Given the description of an element on the screen output the (x, y) to click on. 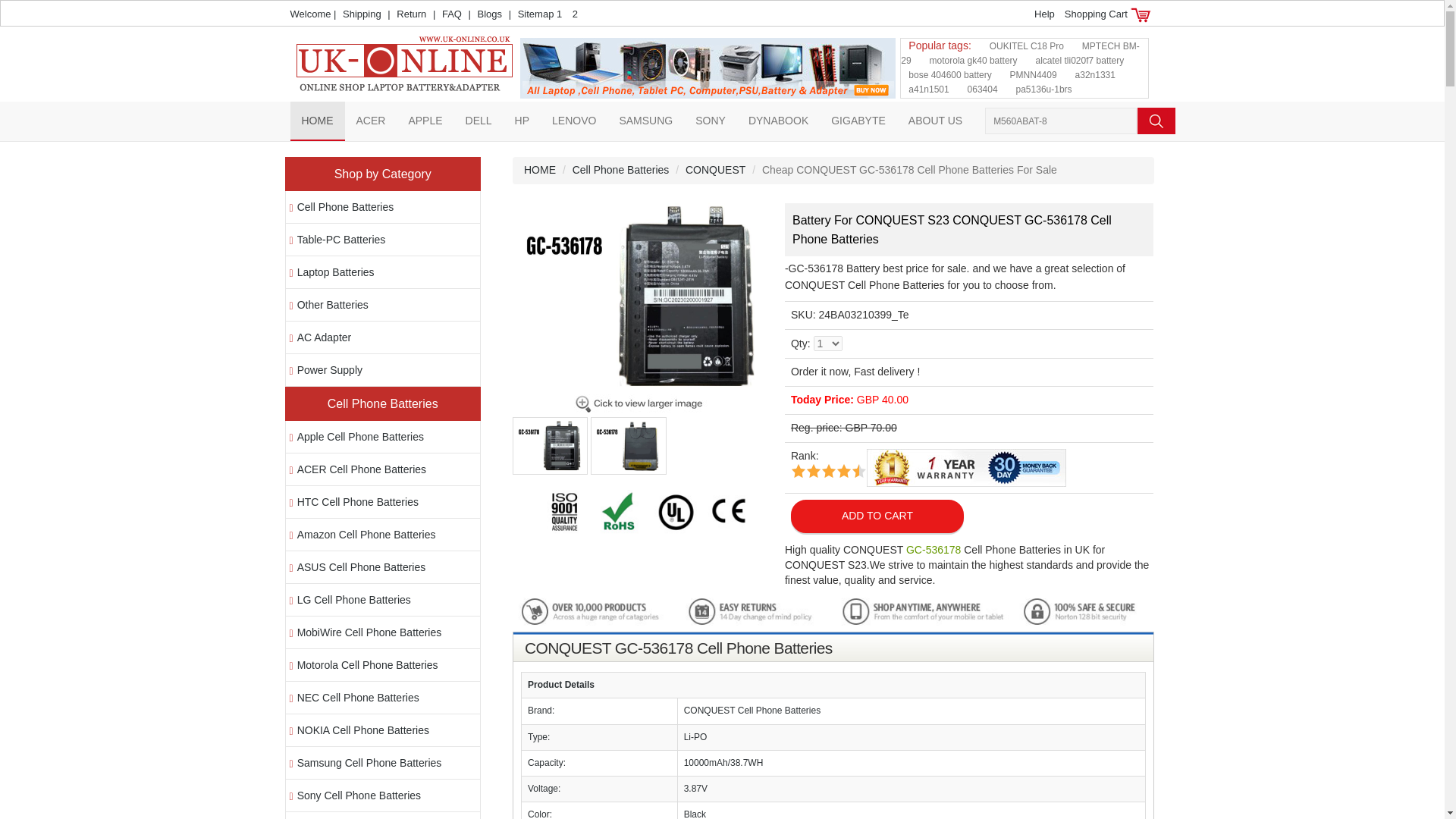
Laptop Batteries (335, 272)
CONQUEST S23 (642, 348)
Cell Phone Batteries (345, 206)
APPLE (424, 120)
a32n1331 (1095, 74)
FAQ (451, 13)
ACER Cell Phone Batteries (361, 469)
LENOVO (573, 120)
OUKITEL C18 Pro (1027, 45)
AC Adapter (324, 337)
063404 (982, 89)
Return (411, 13)
motorola gk40 battery (973, 60)
HP (521, 120)
alcatel tli020f7 battery (1079, 60)
